Given the description of an element on the screen output the (x, y) to click on. 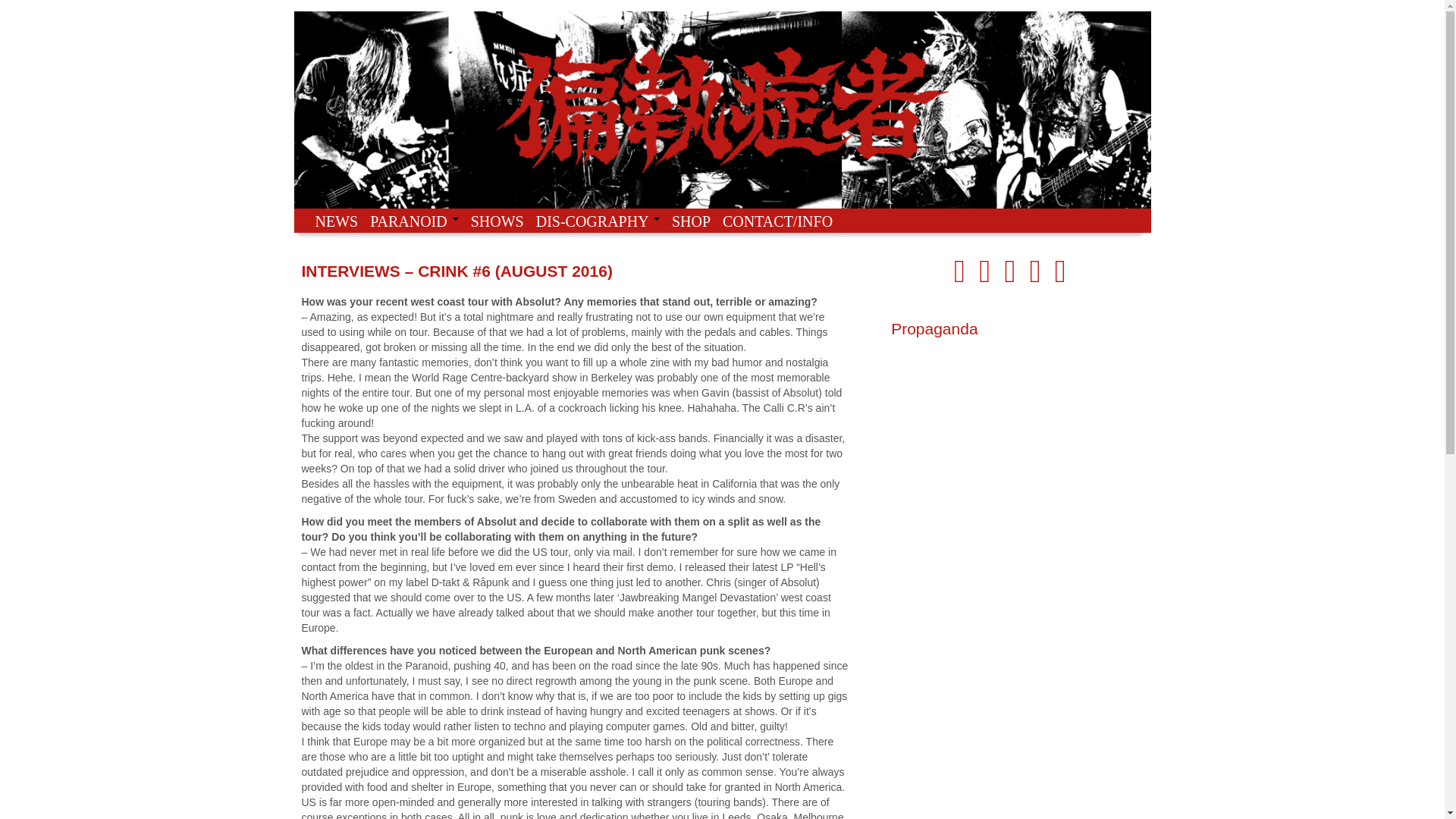
SHOWS (496, 220)
PARANOID (414, 220)
NEWS (336, 220)
SHOP (690, 220)
DIS-COGRAPHY (597, 220)
